Given the description of an element on the screen output the (x, y) to click on. 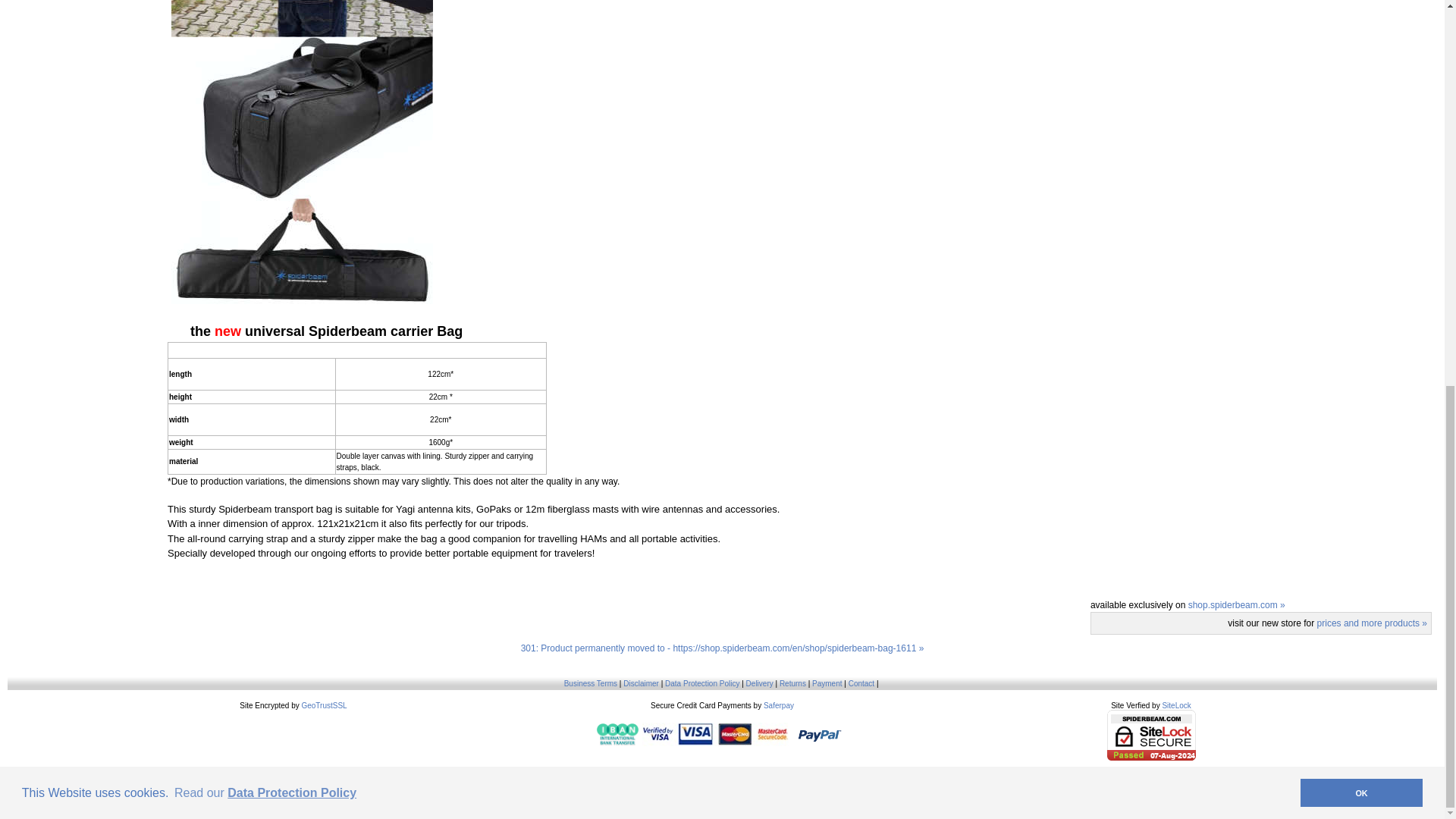
Contact (861, 683)
PayPal (820, 734)
SaferPay (777, 705)
Delivery (759, 683)
Data Protection Policy (702, 683)
OCTIC (742, 775)
GeoTrustSSL (323, 705)
Business Terms (590, 683)
Disclaimer (641, 683)
Payment (826, 683)
Returns (792, 683)
Master Card (715, 734)
OK (1361, 65)
IBAN International Bank Transfer (617, 734)
Read our Data Protection Policy (264, 65)
